Given the description of an element on the screen output the (x, y) to click on. 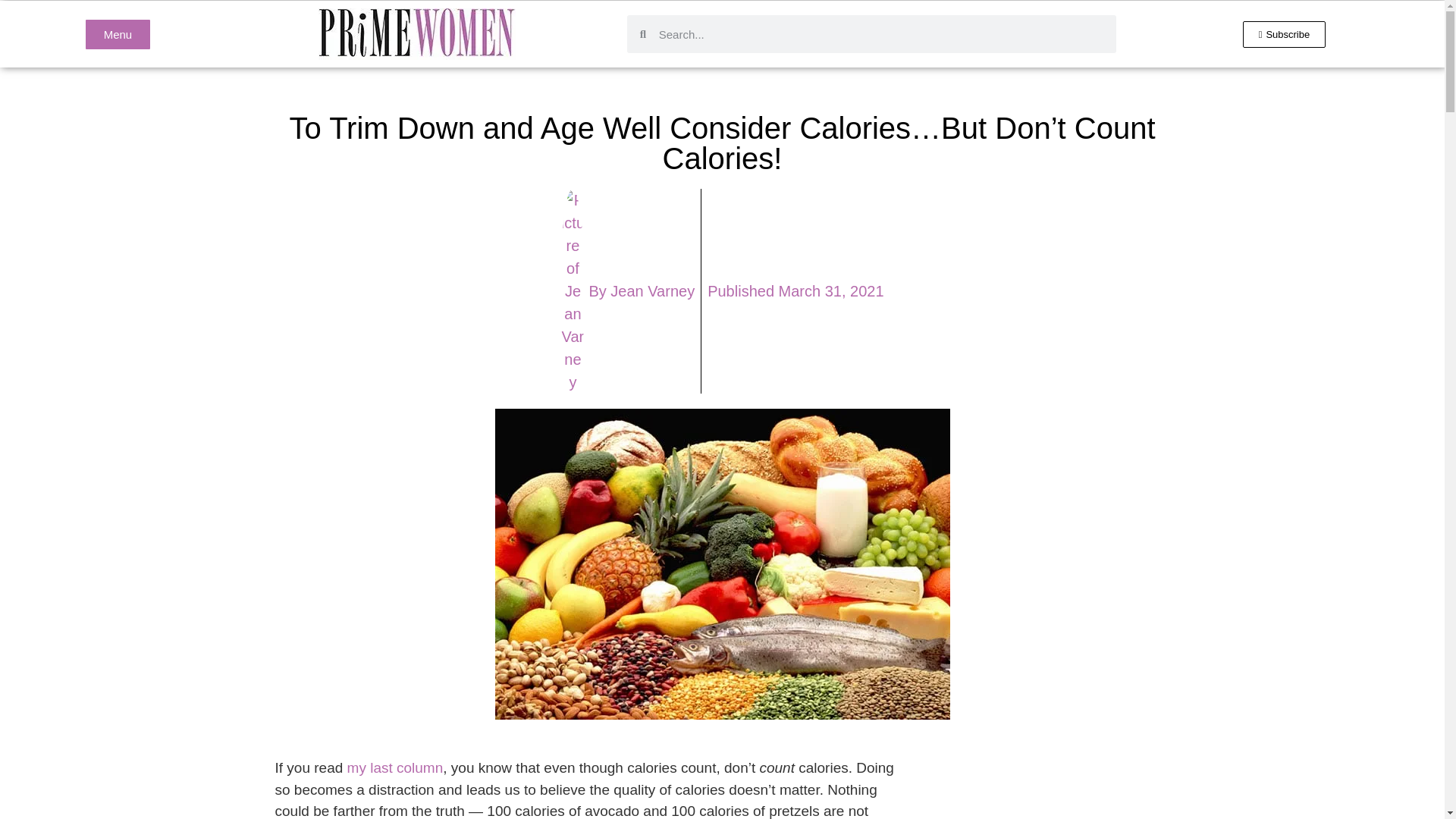
Published March 31, 2021 (795, 291)
Subscribe (1284, 34)
my last column (395, 767)
Menu (118, 34)
